Given the description of an element on the screen output the (x, y) to click on. 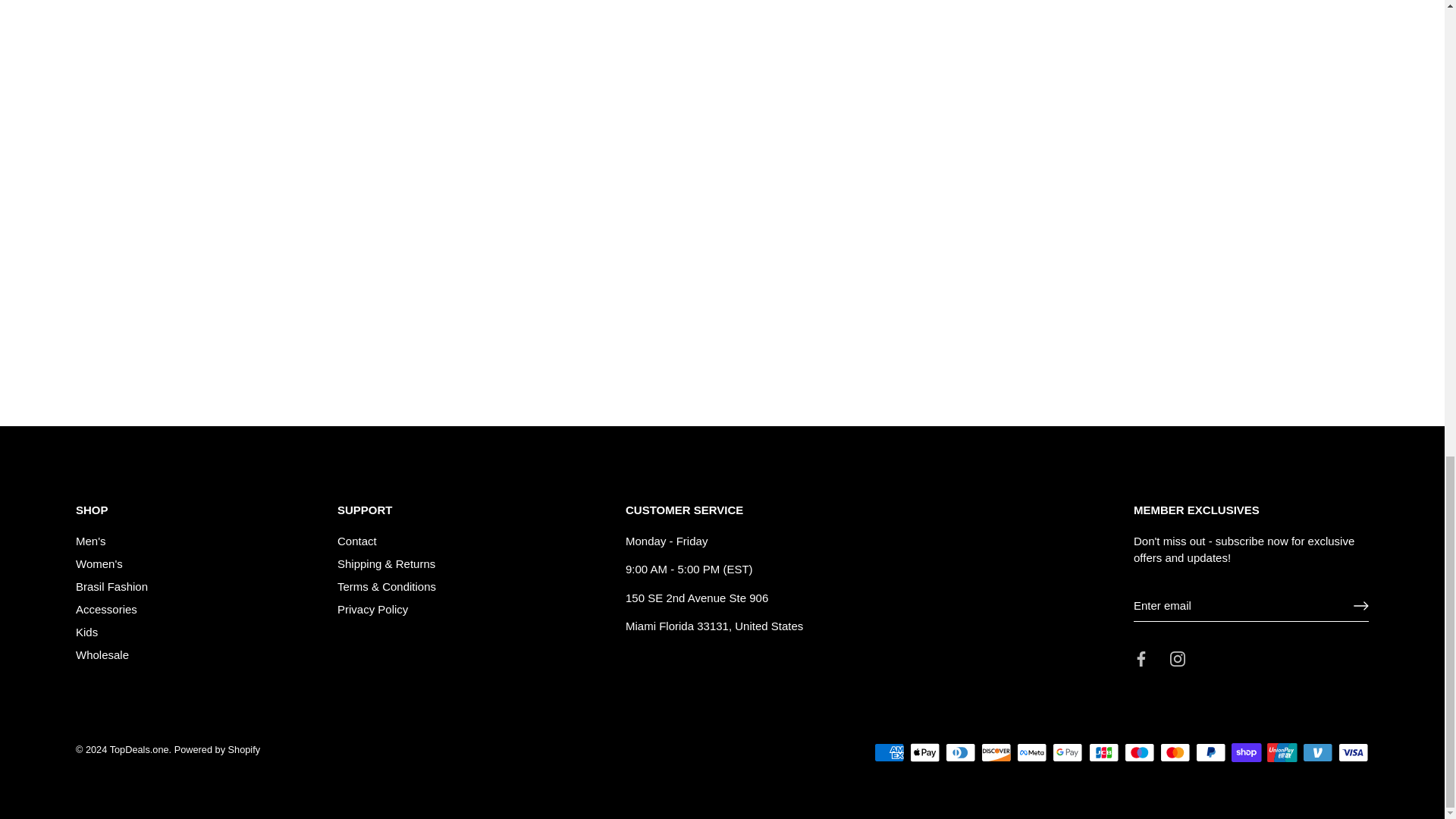
PayPal (1210, 752)
Maestro (1139, 752)
JCB (1104, 752)
Instagram (1177, 658)
Venmo (1317, 752)
Shop Pay (1245, 752)
Apple Pay (925, 752)
Union Pay (1281, 752)
Google Pay (1067, 752)
Mastercard (1174, 752)
